Given the description of an element on the screen output the (x, y) to click on. 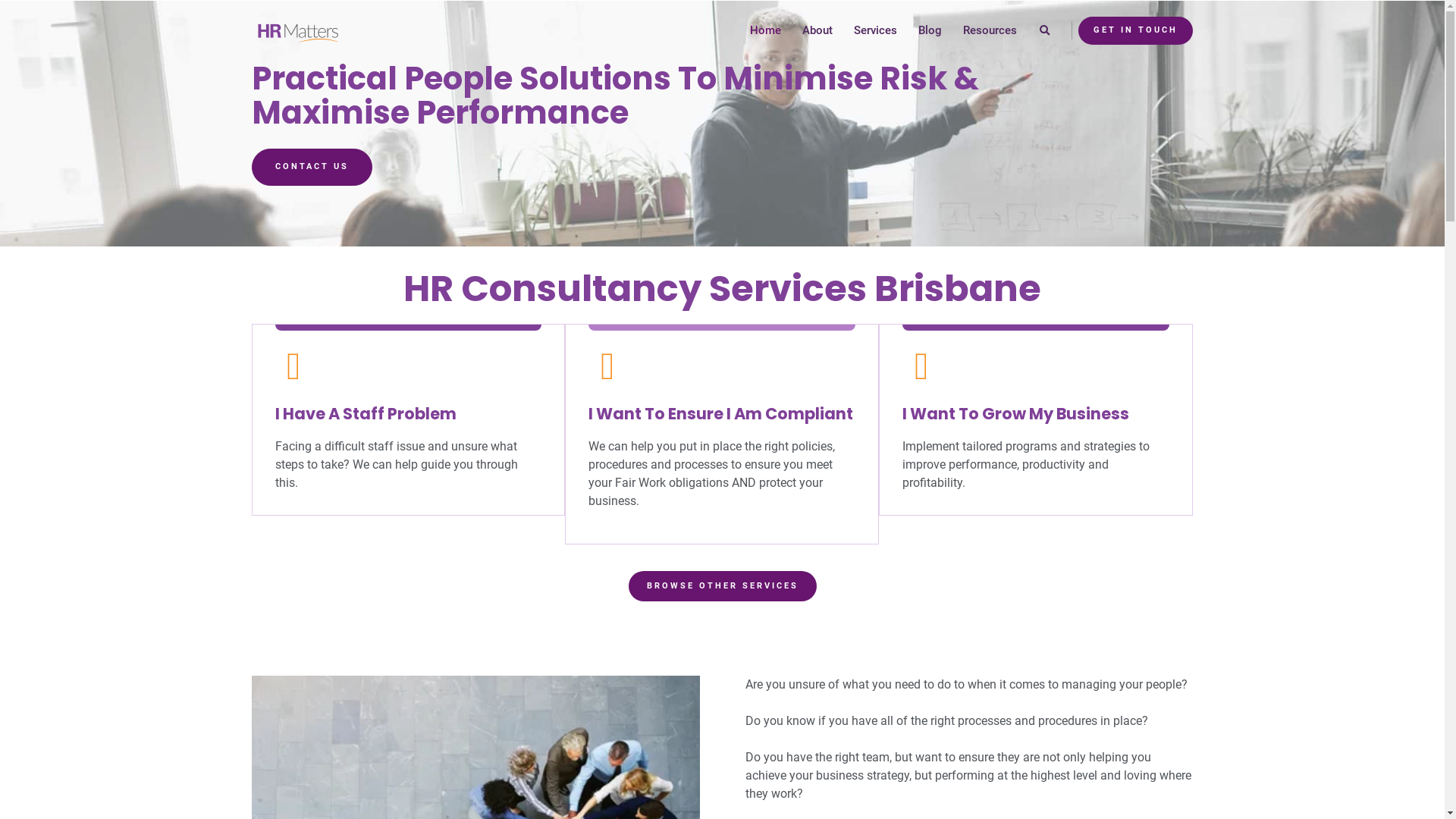
Services Element type: text (875, 30)
I Want To Grow My Business Element type: text (1015, 413)
I Want To Ensure I Am Compliant Element type: text (720, 413)
Home Element type: text (765, 30)
About Element type: text (817, 30)
Resources Element type: text (989, 30)
Blog Element type: text (929, 30)
CONTACT US Element type: text (311, 166)
BROWSE OTHER SERVICES Element type: text (721, 586)
I Have A Staff Problem Element type: text (364, 413)
GET IN TOUCH Element type: text (1135, 30)
